Given the description of an element on the screen output the (x, y) to click on. 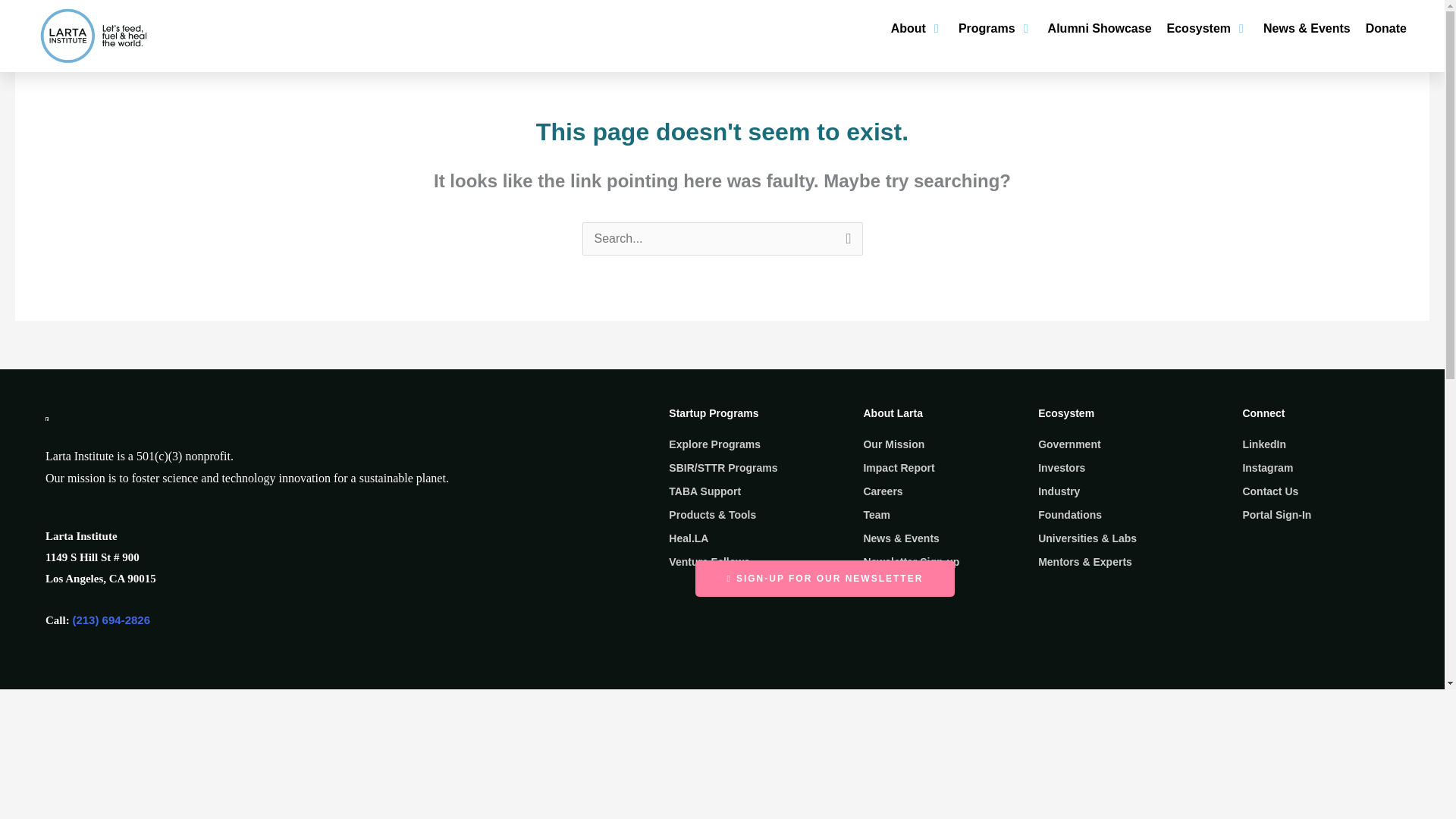
Programs (986, 28)
About (908, 28)
Ecosystem (1199, 28)
Alumni Showcase (1099, 28)
Search (844, 239)
Search (844, 239)
